Given the description of an element on the screen output the (x, y) to click on. 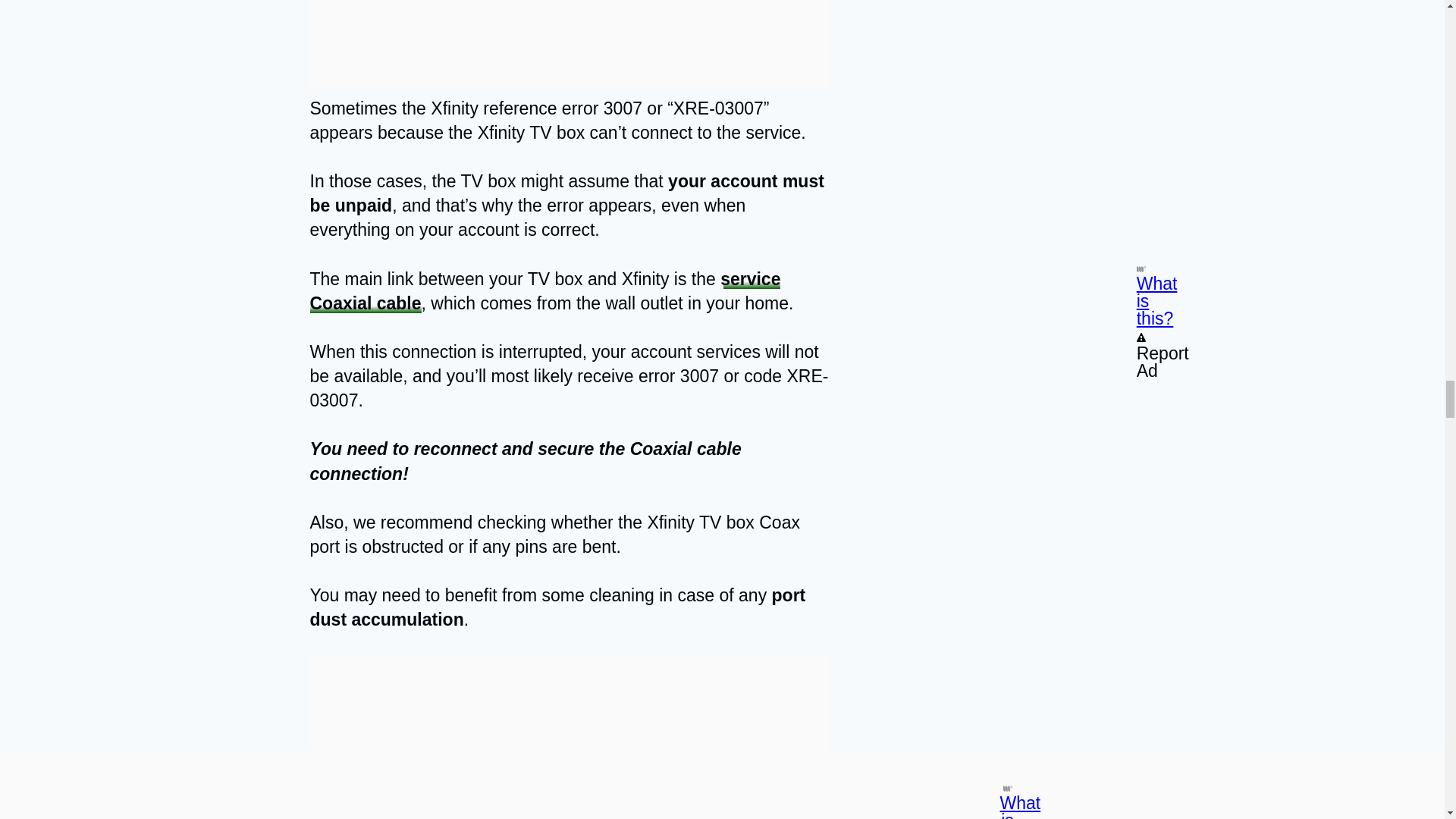
service Coaxial cable (544, 290)
